Given the description of an element on the screen output the (x, y) to click on. 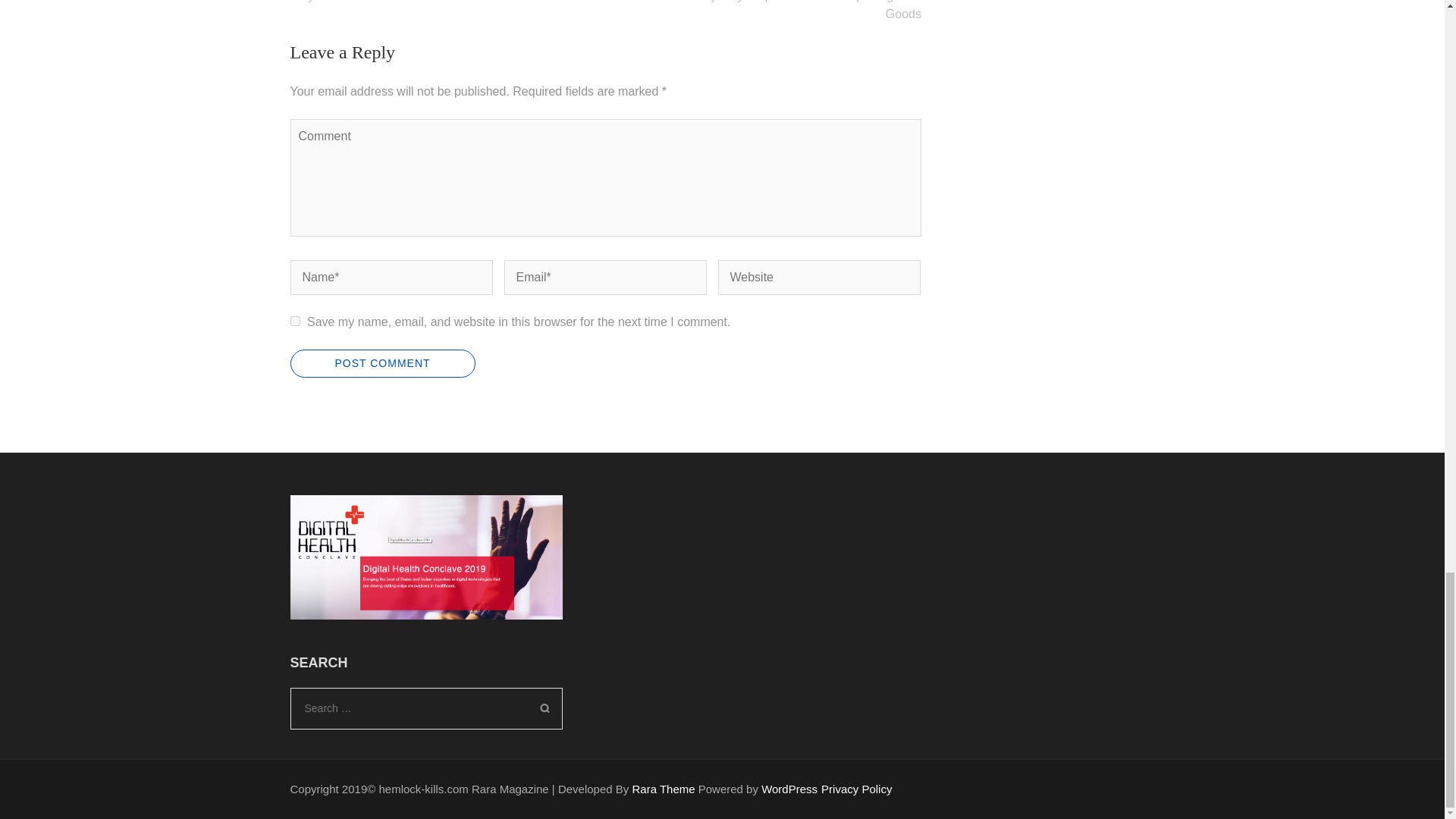
Post Comment (381, 363)
Search (545, 708)
yes (294, 320)
Search (545, 708)
